Given the description of an element on the screen output the (x, y) to click on. 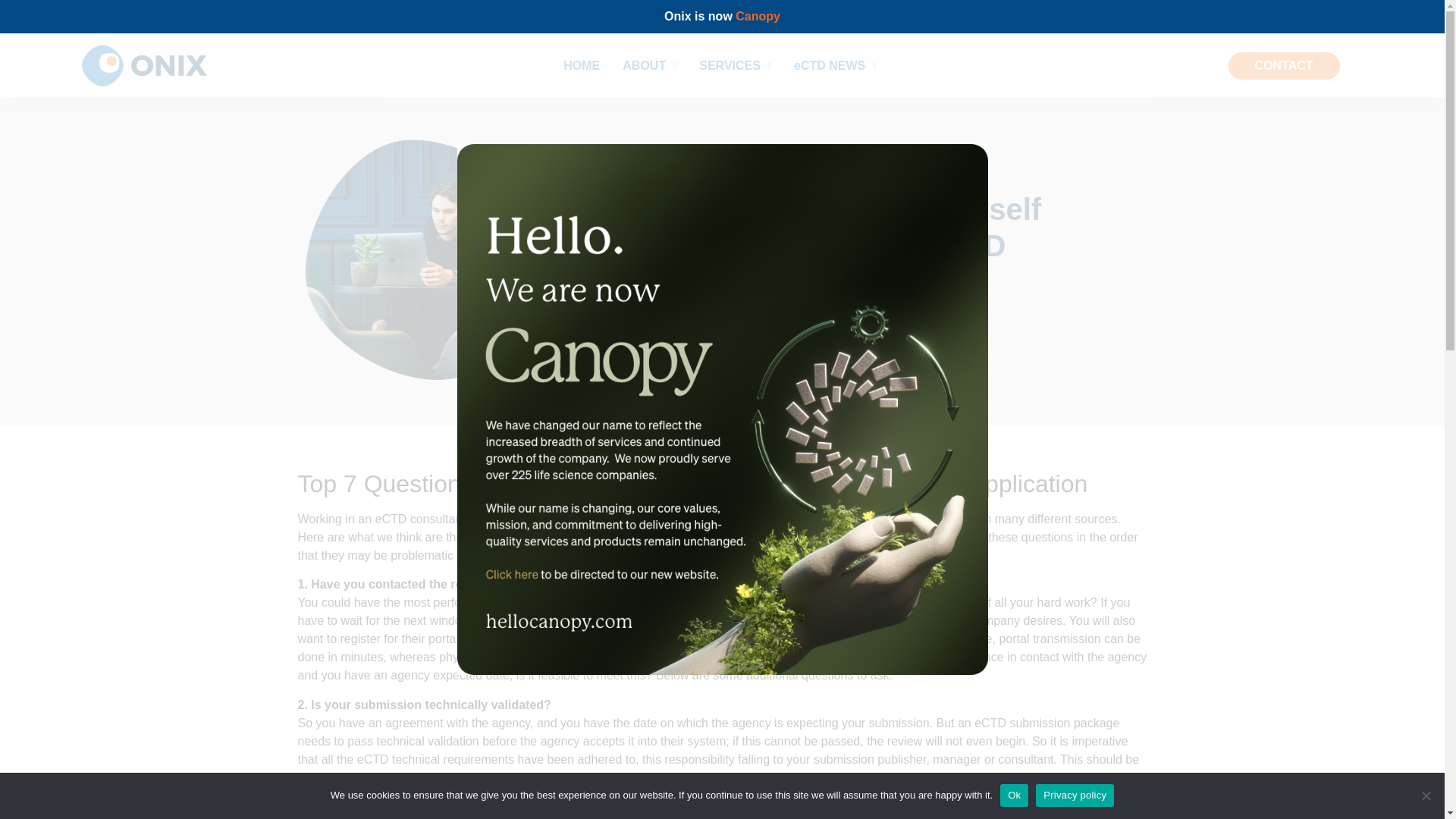
HOME (581, 65)
ABOUT (650, 65)
10:40 AM (627, 323)
No (1425, 795)
CONTACT (1283, 65)
SERVICES (734, 65)
eCTD NEWS (834, 65)
Canopy (757, 15)
